Given the description of an element on the screen output the (x, y) to click on. 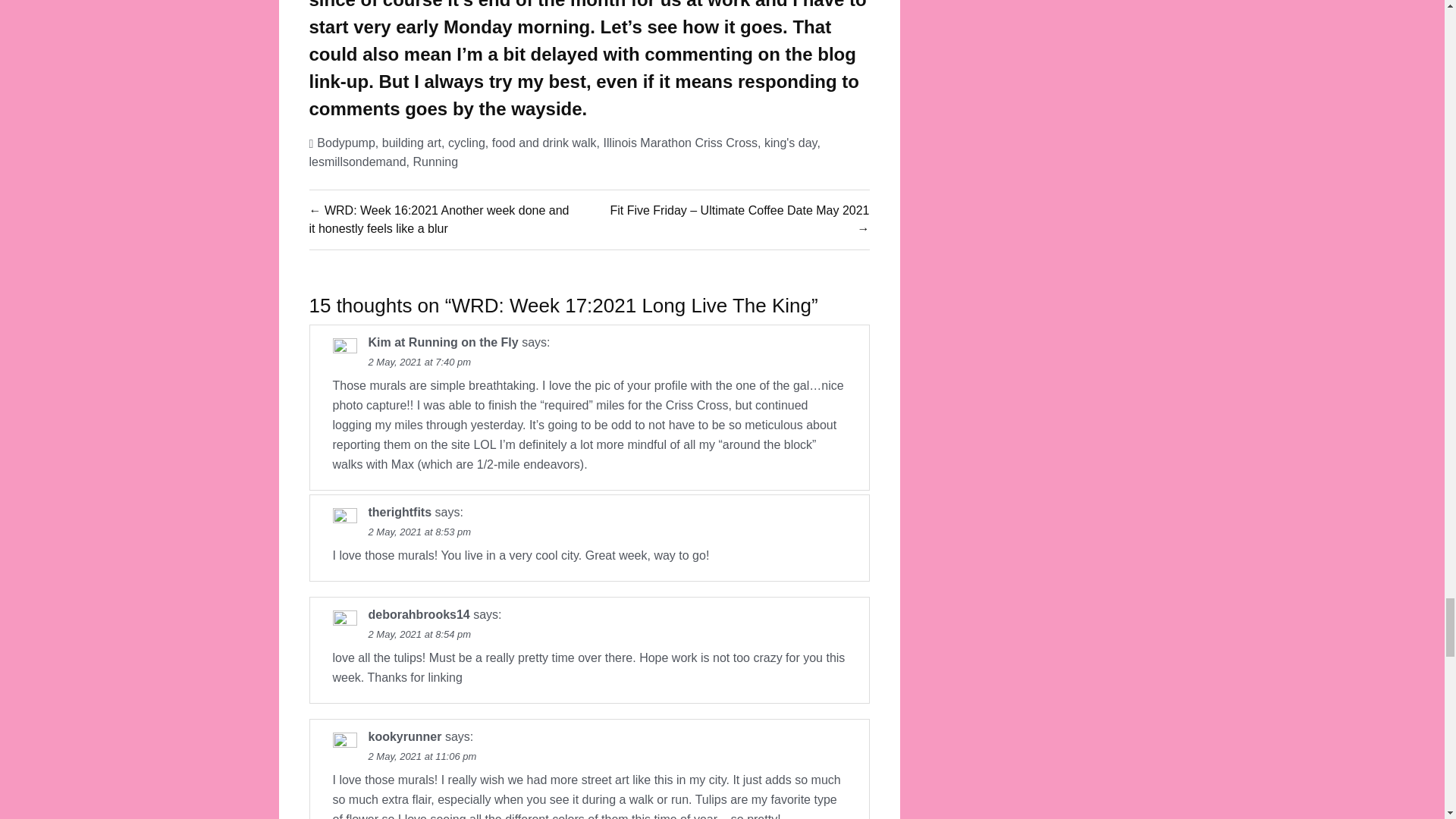
deborahbrooks14 (419, 614)
2 May, 2021 at 7:40 pm (419, 361)
therightfits (400, 512)
Running (435, 161)
2 May, 2021 at 11:06 pm (422, 756)
food and drink walk (544, 142)
king's day (790, 142)
2 May, 2021 at 8:53 pm (419, 531)
Bodypump (346, 142)
cycling (466, 142)
